Given the description of an element on the screen output the (x, y) to click on. 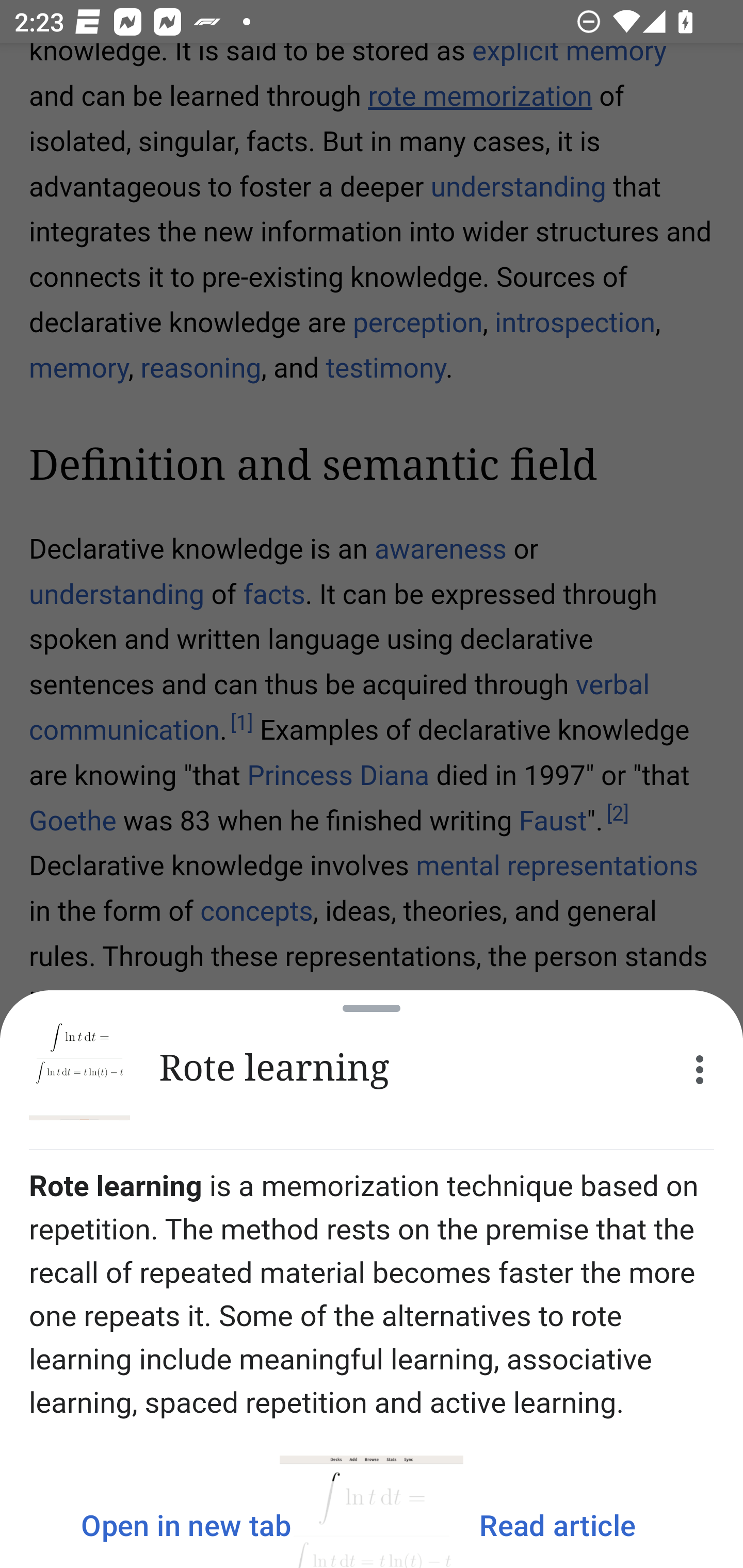
Rote learning More options (371, 1069)
More options (699, 1070)
Open in new tab (185, 1524)
Read article (557, 1524)
